Given the description of an element on the screen output the (x, y) to click on. 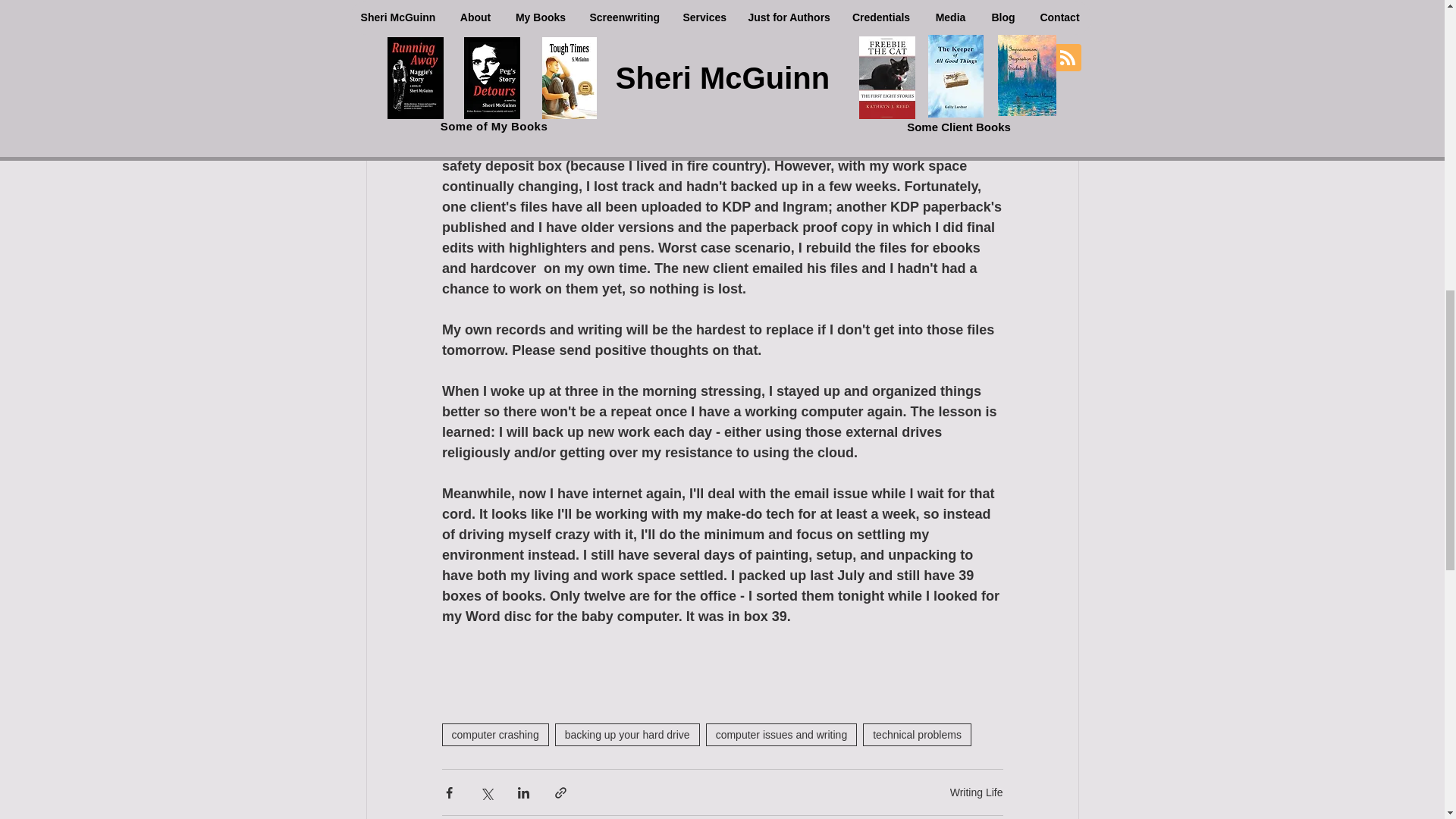
Writing Life (976, 791)
backing up your hard drive (627, 734)
computer crashing (494, 734)
technical problems (917, 734)
computer issues and writing (781, 734)
